Given the description of an element on the screen output the (x, y) to click on. 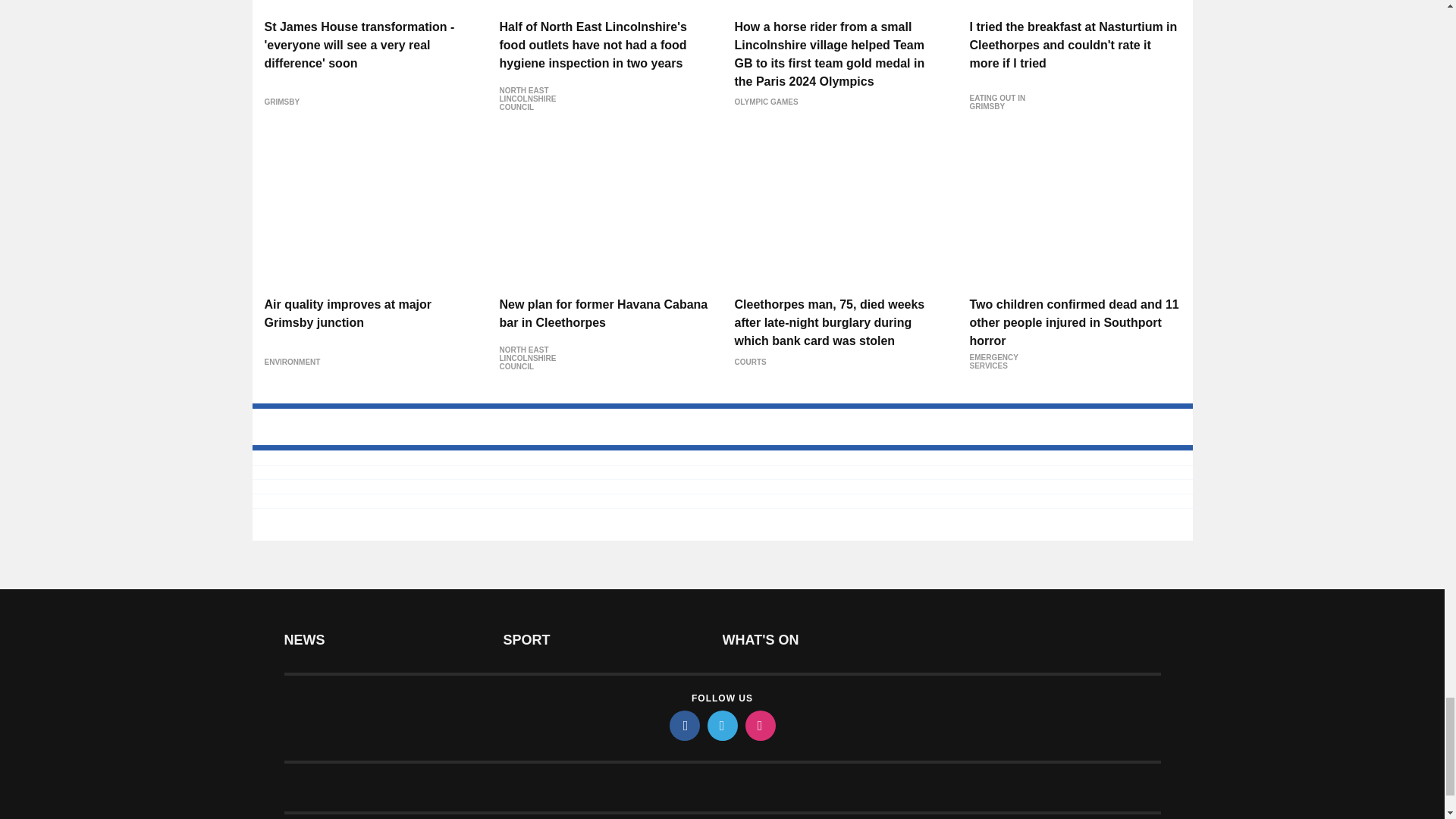
facebook (683, 725)
instagram (759, 725)
twitter (721, 725)
